Given the description of an element on the screen output the (x, y) to click on. 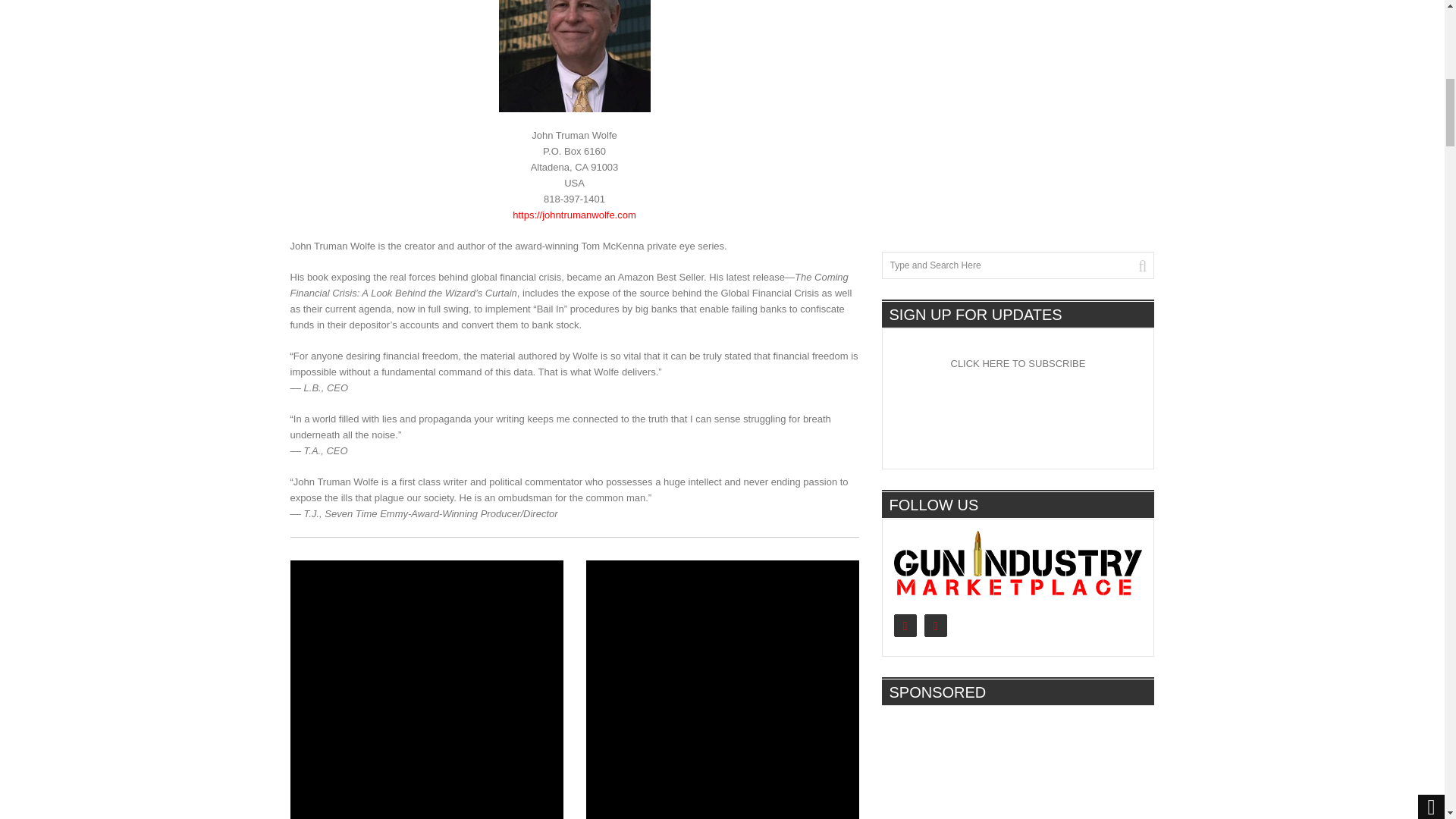
Type and Search Here (1017, 265)
